Given the description of an element on the screen output the (x, y) to click on. 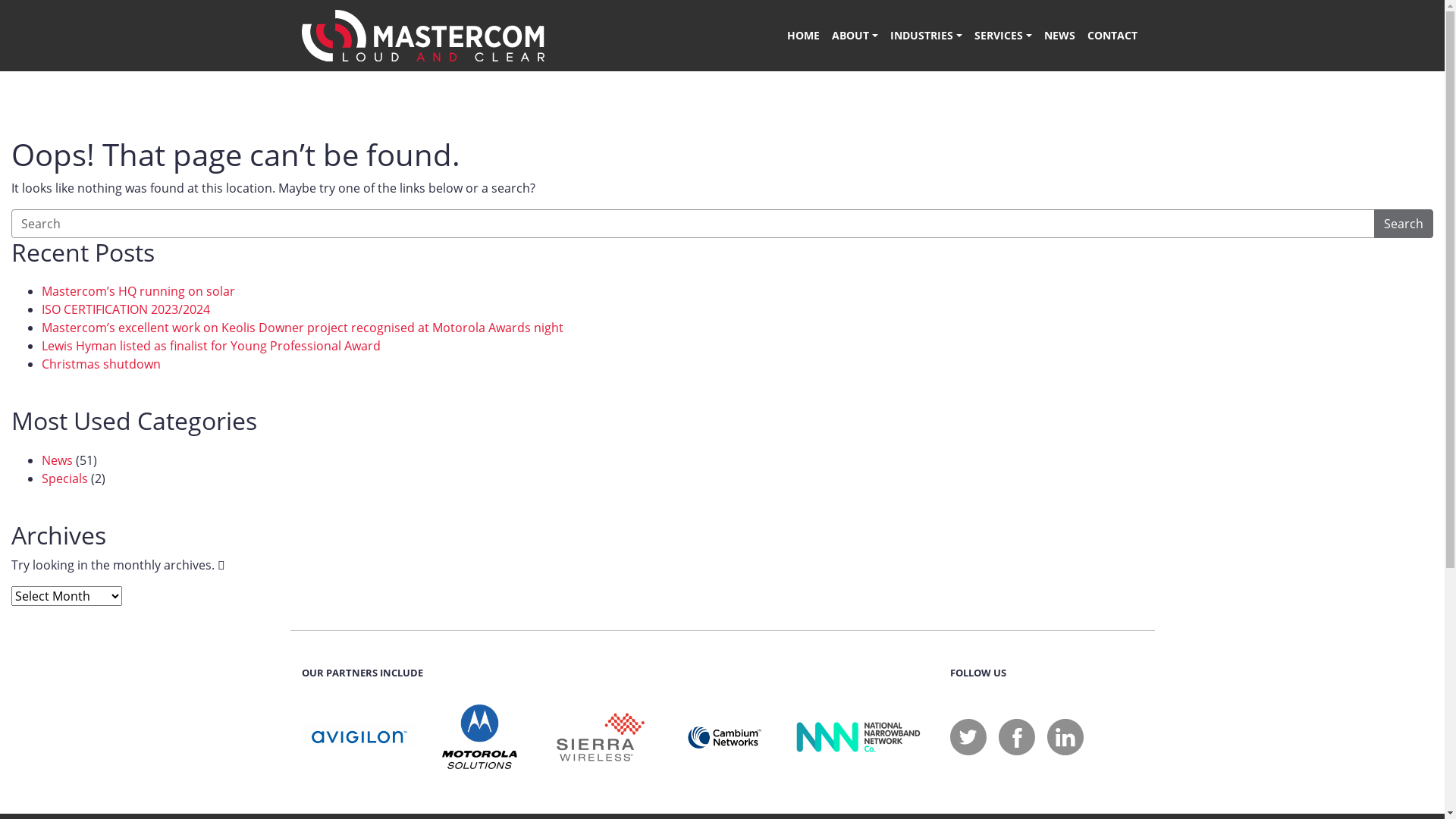
Christmas shutdown Element type: text (100, 363)
Search Element type: text (1403, 223)
CONTACT Element type: text (1112, 35)
ABOUT Element type: text (854, 35)
HOME Element type: text (803, 35)
NEWS Element type: text (1058, 35)
ISO CERTIFICATION 2023/2024 Element type: text (125, 309)
INDUSTRIES Element type: text (926, 35)
Lewis Hyman listed as finalist for Young Professional Award Element type: text (210, 345)
SERVICES Element type: text (1003, 35)
News Element type: text (56, 459)
Specials Element type: text (64, 478)
